Given the description of an element on the screen output the (x, y) to click on. 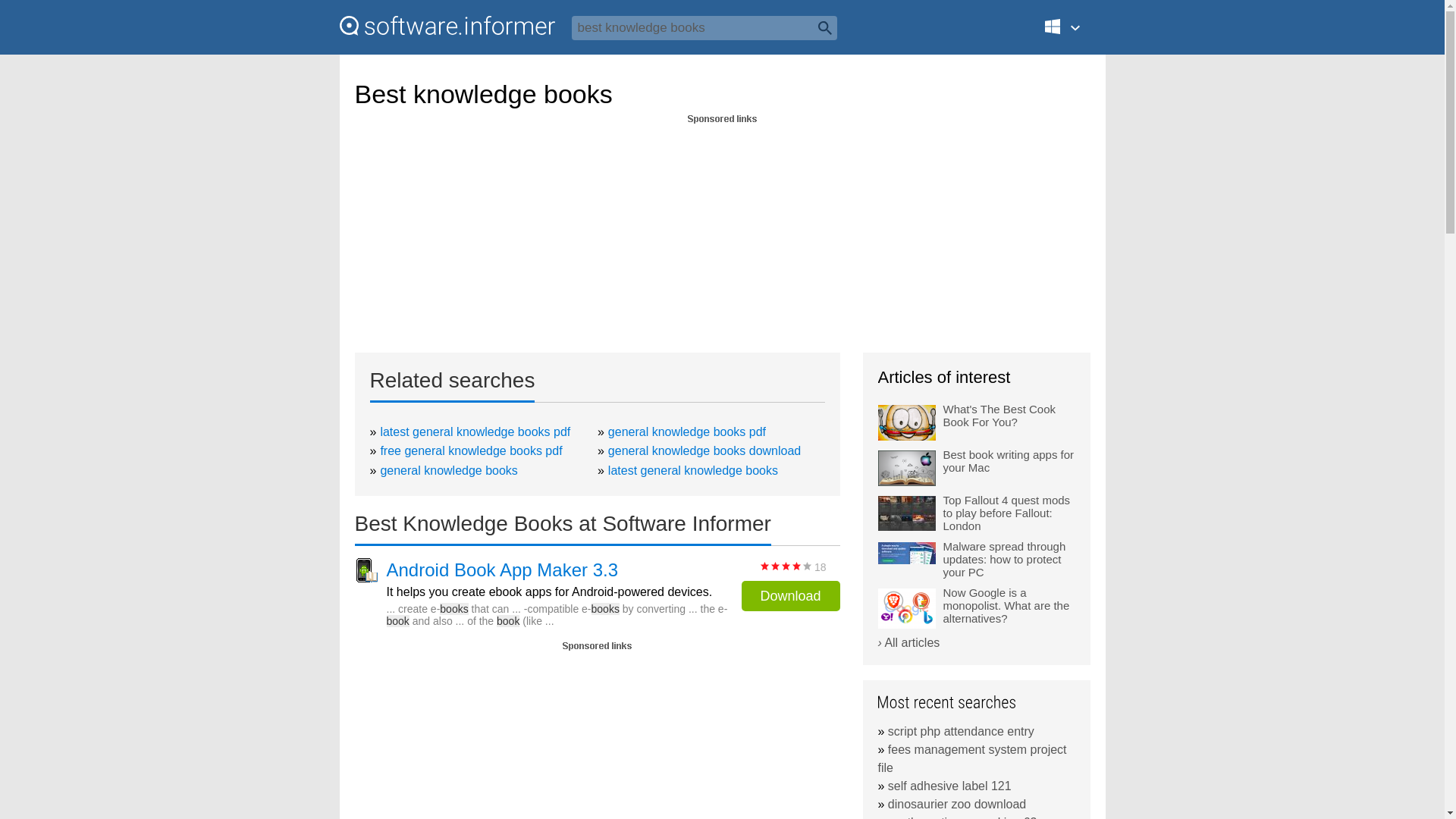
Android Book App Maker 3.3 (502, 569)
18 votes (785, 565)
Software downloads and reviews (446, 25)
general knowledge books (448, 470)
Download (790, 595)
general knowledge books download (704, 450)
general knowledge books pdf (686, 431)
free general knowledge books pdf (471, 450)
